Given the description of an element on the screen output the (x, y) to click on. 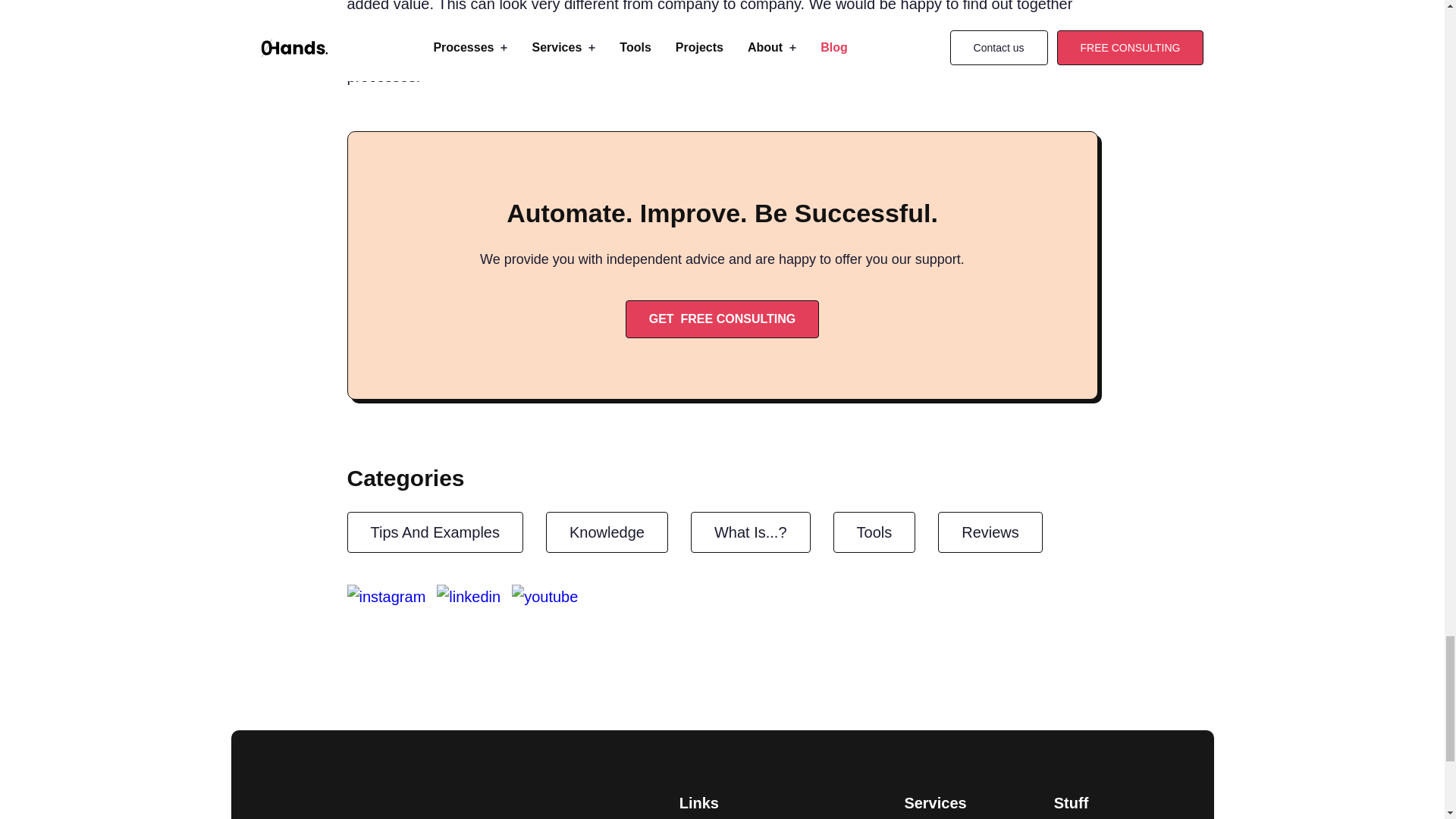
GET  FREE CONSULTING (722, 319)
Tips And Examples (434, 531)
